Given the description of an element on the screen output the (x, y) to click on. 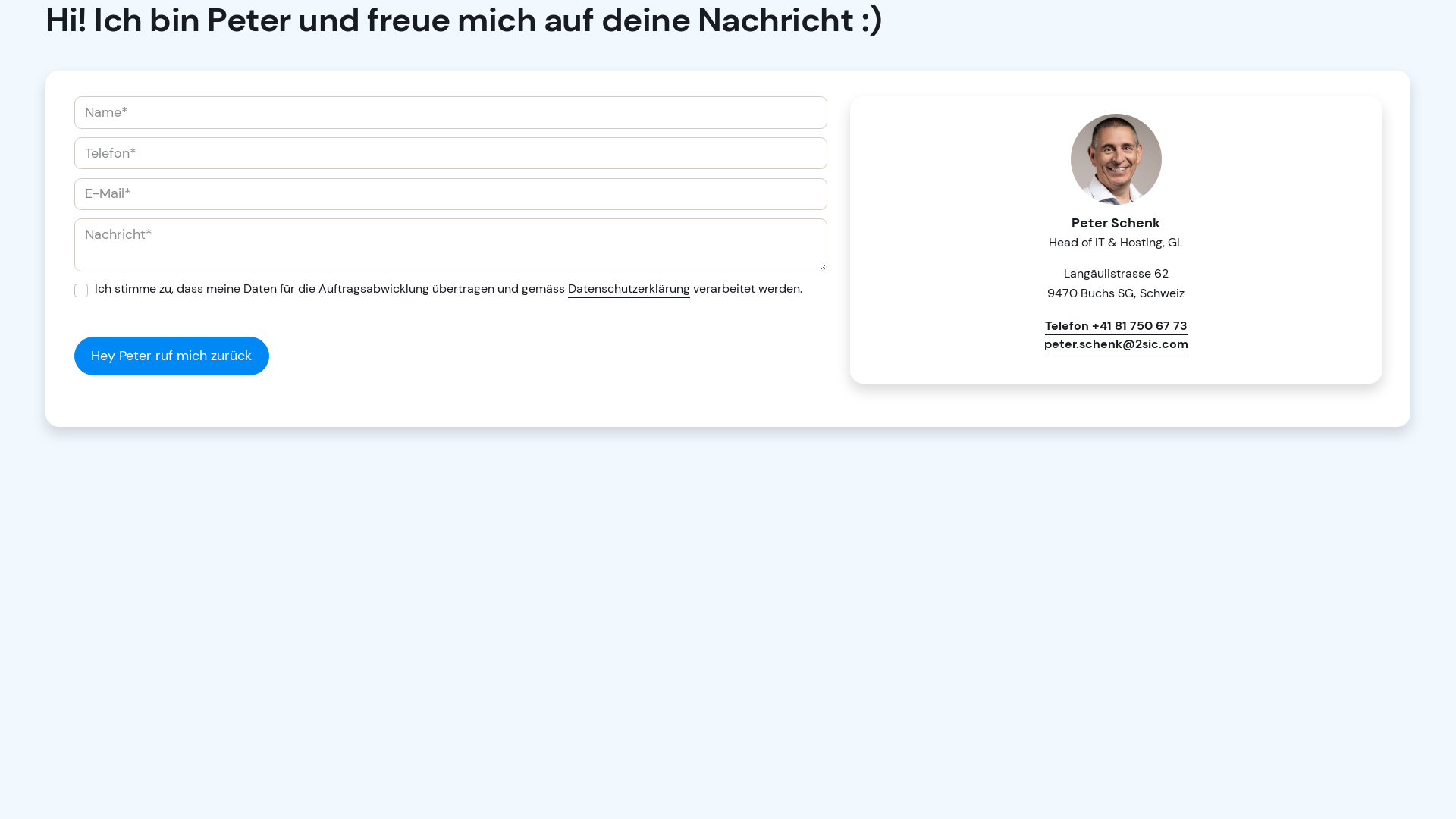
Telefon +41 81 750 67 73 Element type: text (1115, 325)
peter.schenk@2sic.com Element type: text (1116, 343)
